Given the description of an element on the screen output the (x, y) to click on. 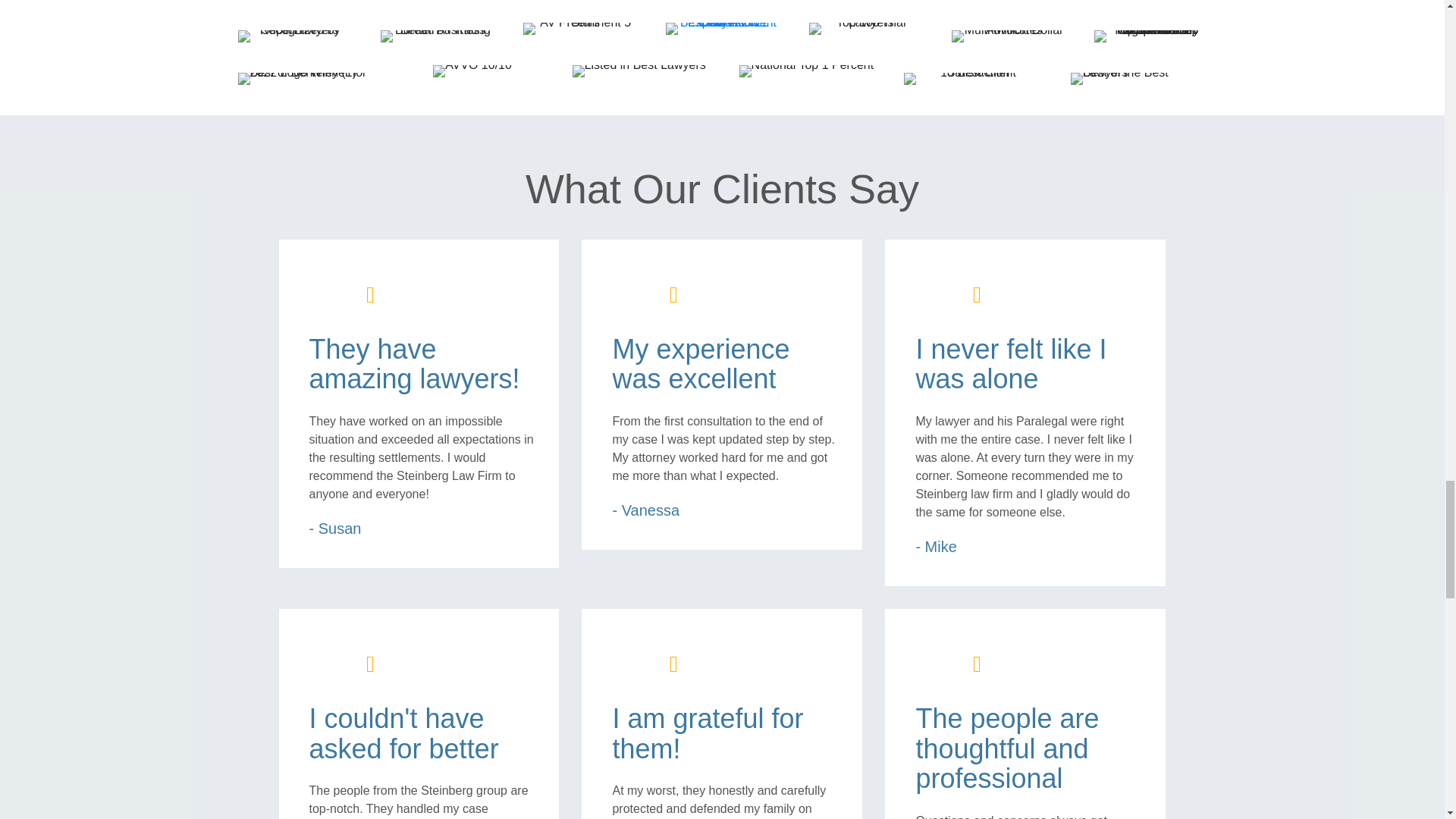
av-reviewed-5 (578, 28)
million-dollar-f (1008, 36)
bbb (436, 36)
national-trial-lawyers (865, 28)
Expertise 2022 Best Car Accident Lawyers in Charleston (721, 28)
super-lawyers-f (294, 36)
